Given the description of an element on the screen output the (x, y) to click on. 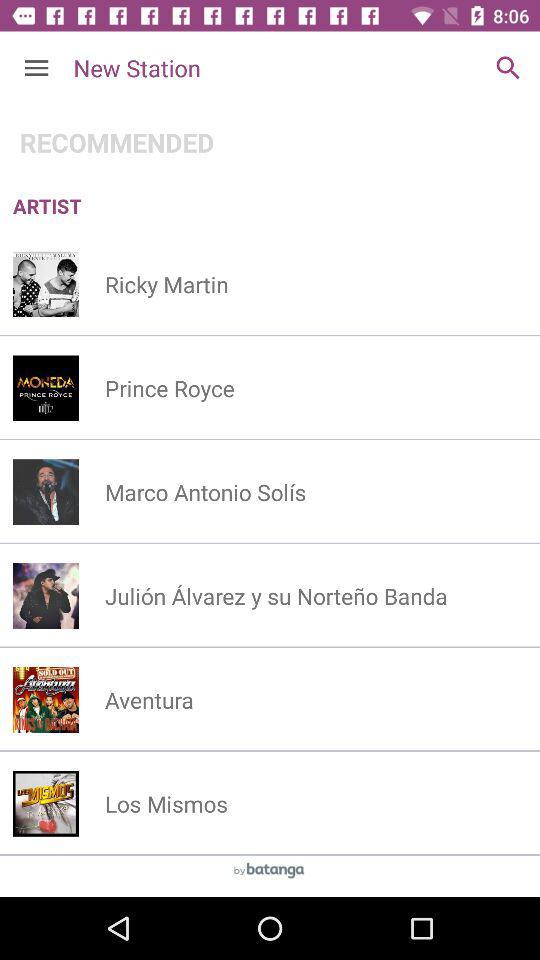
tap the icon next to new station item (36, 68)
